Given the description of an element on the screen output the (x, y) to click on. 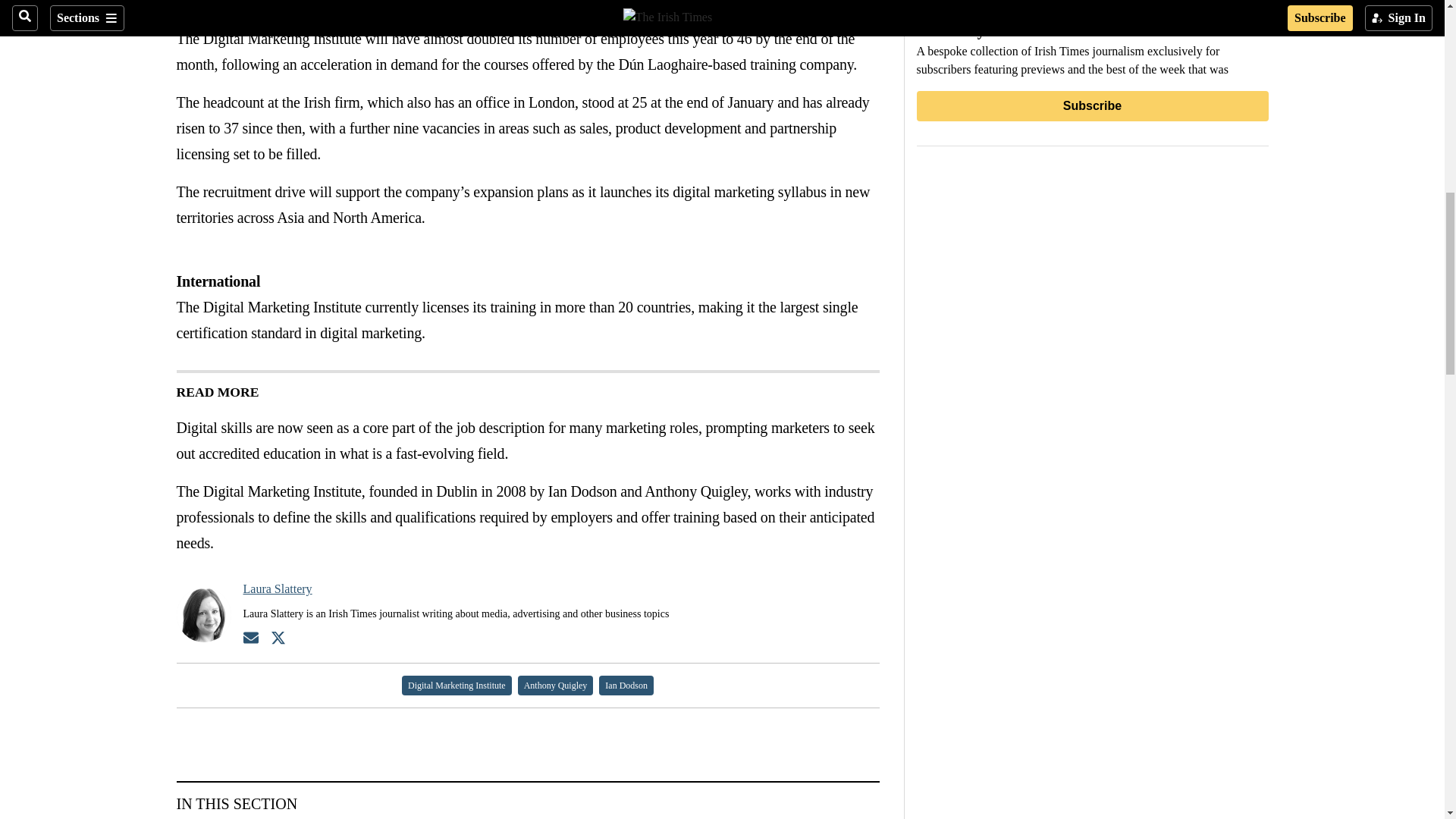
Facebook (184, 6)
X (215, 6)
WhatsApp (244, 6)
